Given the description of an element on the screen output the (x, y) to click on. 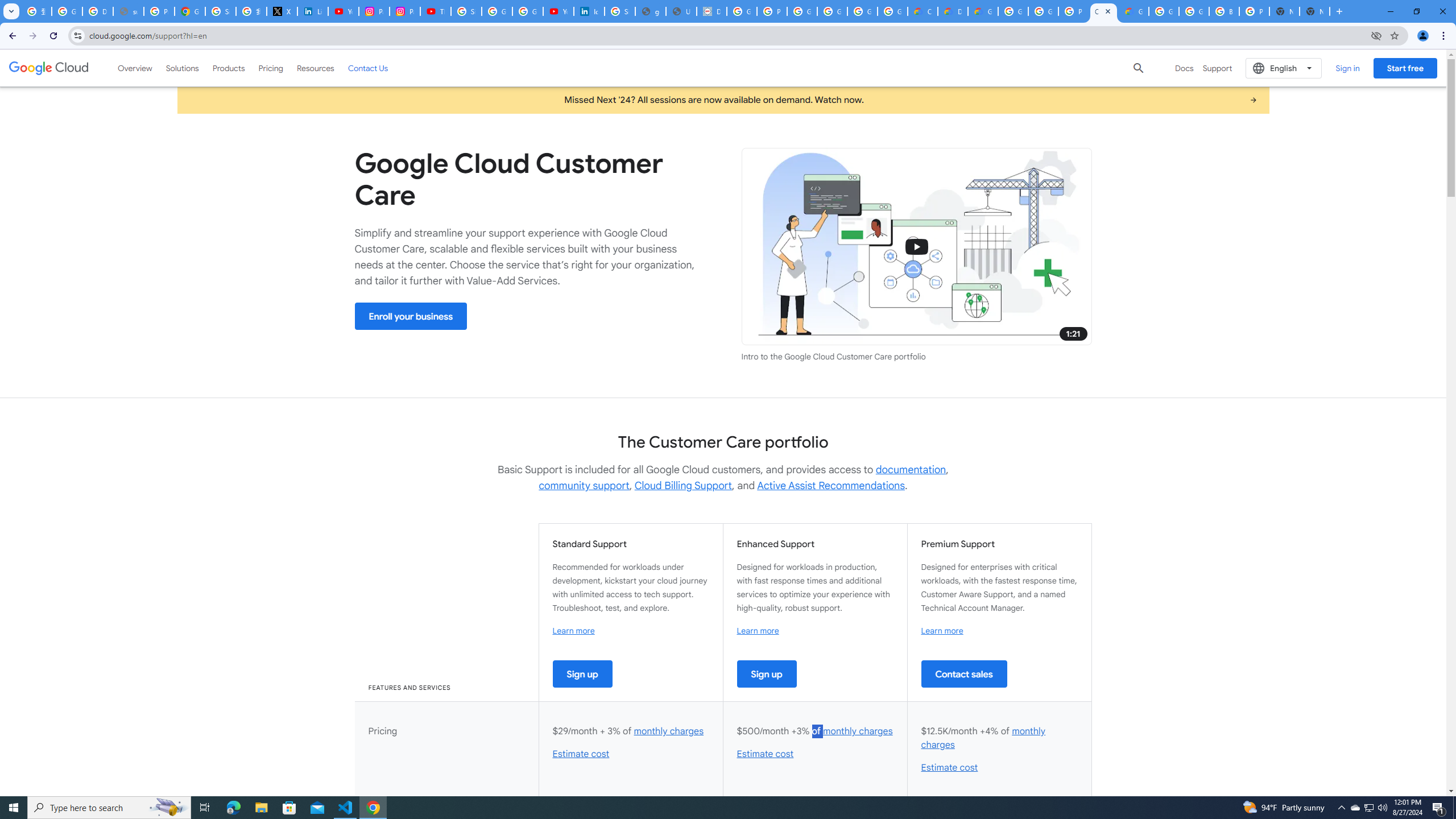
Enroll your business (410, 316)
support.google.com - Network error (127, 11)
Support (1216, 67)
Cloud Billing Support (683, 485)
monthly charges (982, 738)
Customer Care | Google Cloud (922, 11)
Google Cloud Platform (1193, 11)
